Given the description of an element on the screen output the (x, y) to click on. 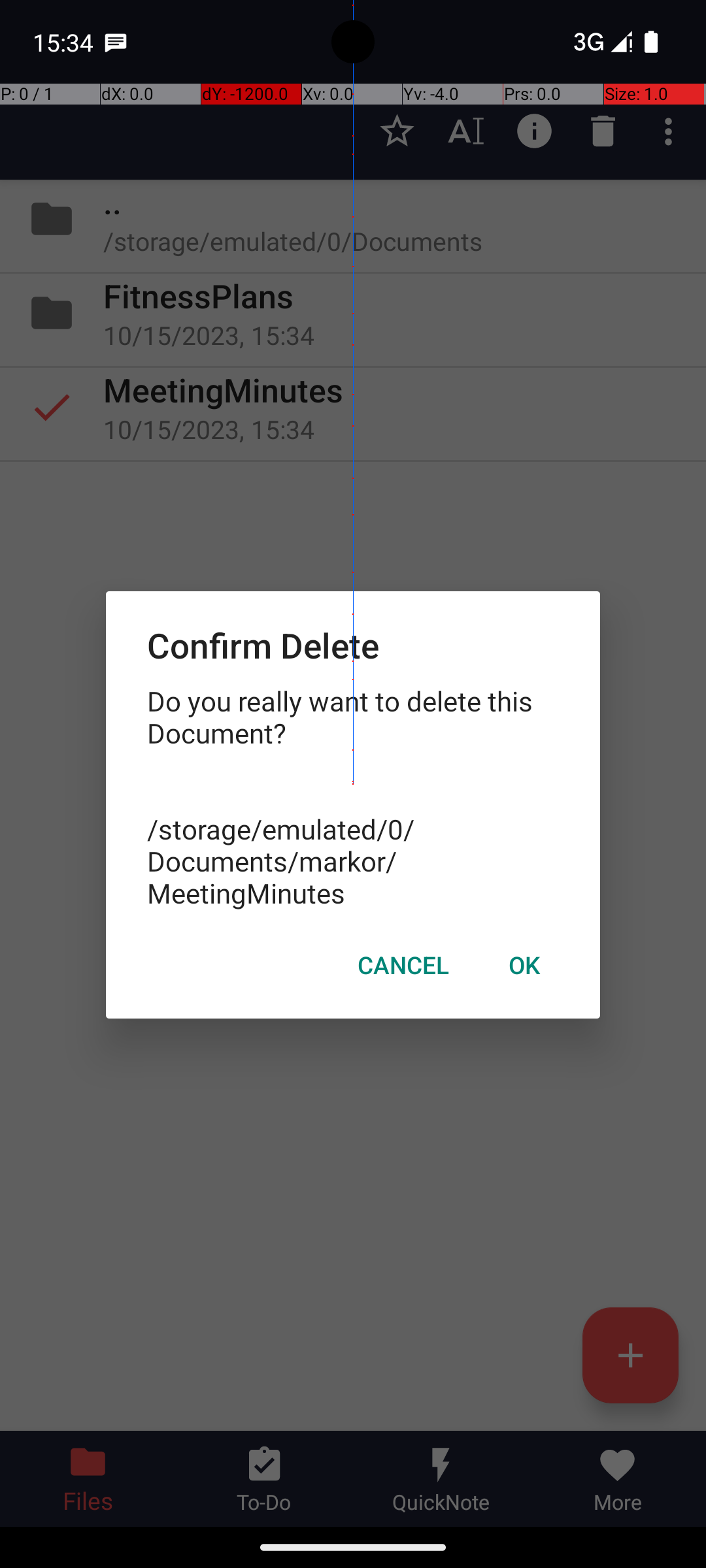
Confirm Delete Element type: android.widget.TextView (352, 644)
Do you really want to delete this Document?


/storage/emulated/0/Documents/markor/MeetingMinutes Element type: android.widget.TextView (352, 796)
